Given the description of an element on the screen output the (x, y) to click on. 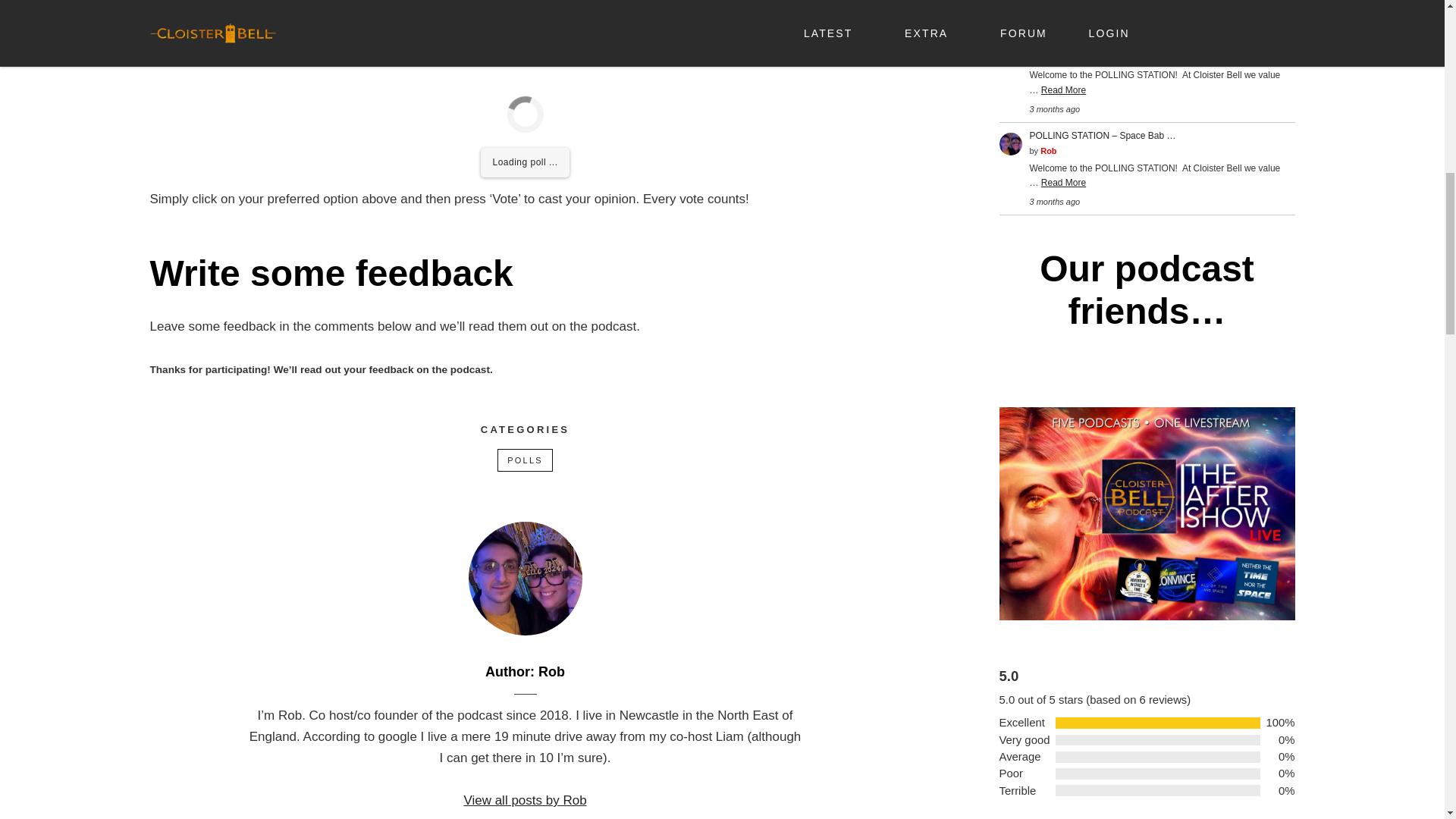
POLLING STATION - The Devil's Chord (1111, 41)
POLLS (524, 459)
View all posts by Rob (525, 800)
